Given the description of an element on the screen output the (x, y) to click on. 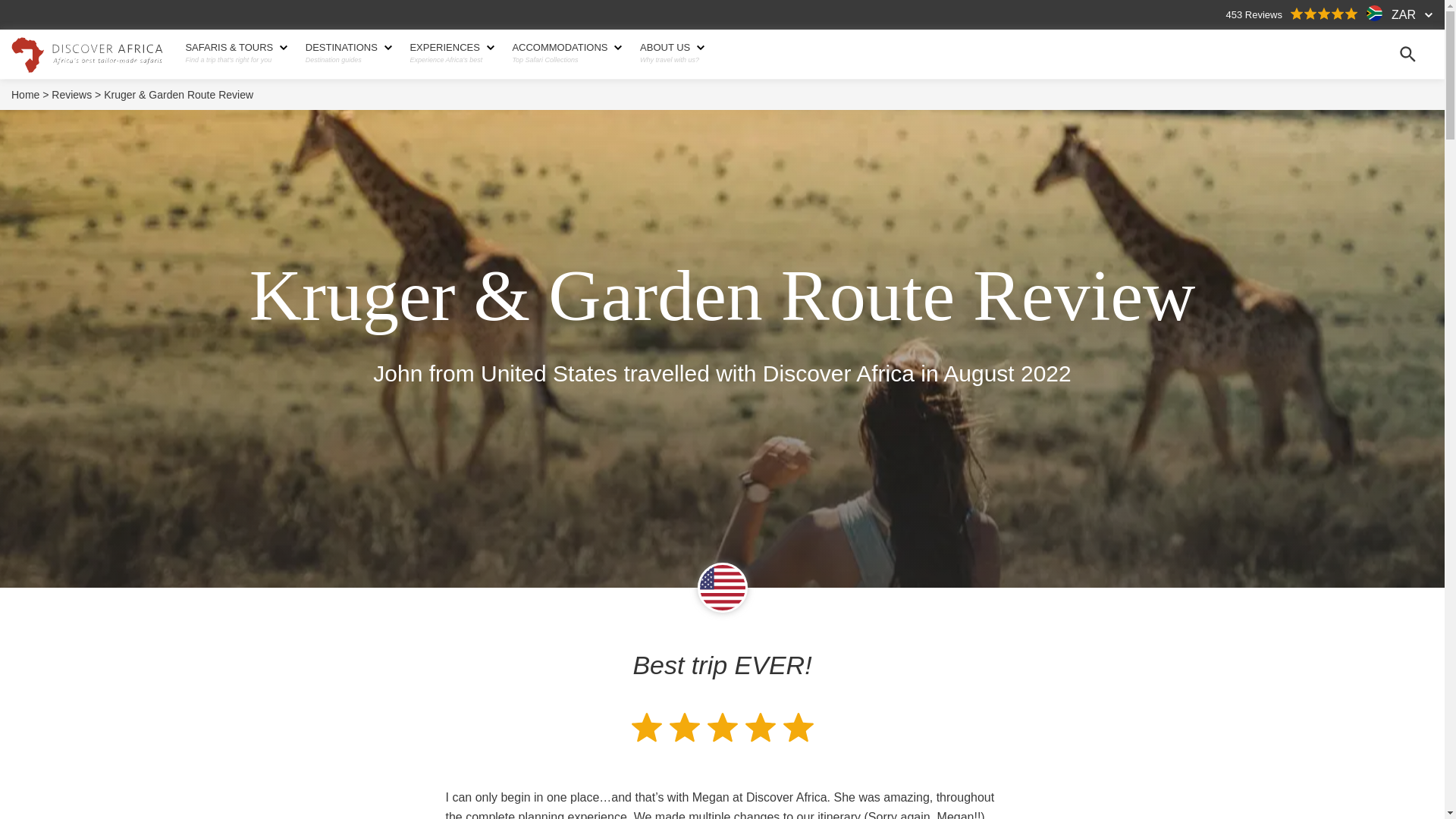
Destination guides (346, 59)
DESTINATIONS (346, 47)
453 Reviews (1291, 14)
Reviews (75, 94)
Find a trip that's right for you (233, 59)
